Given the description of an element on the screen output the (x, y) to click on. 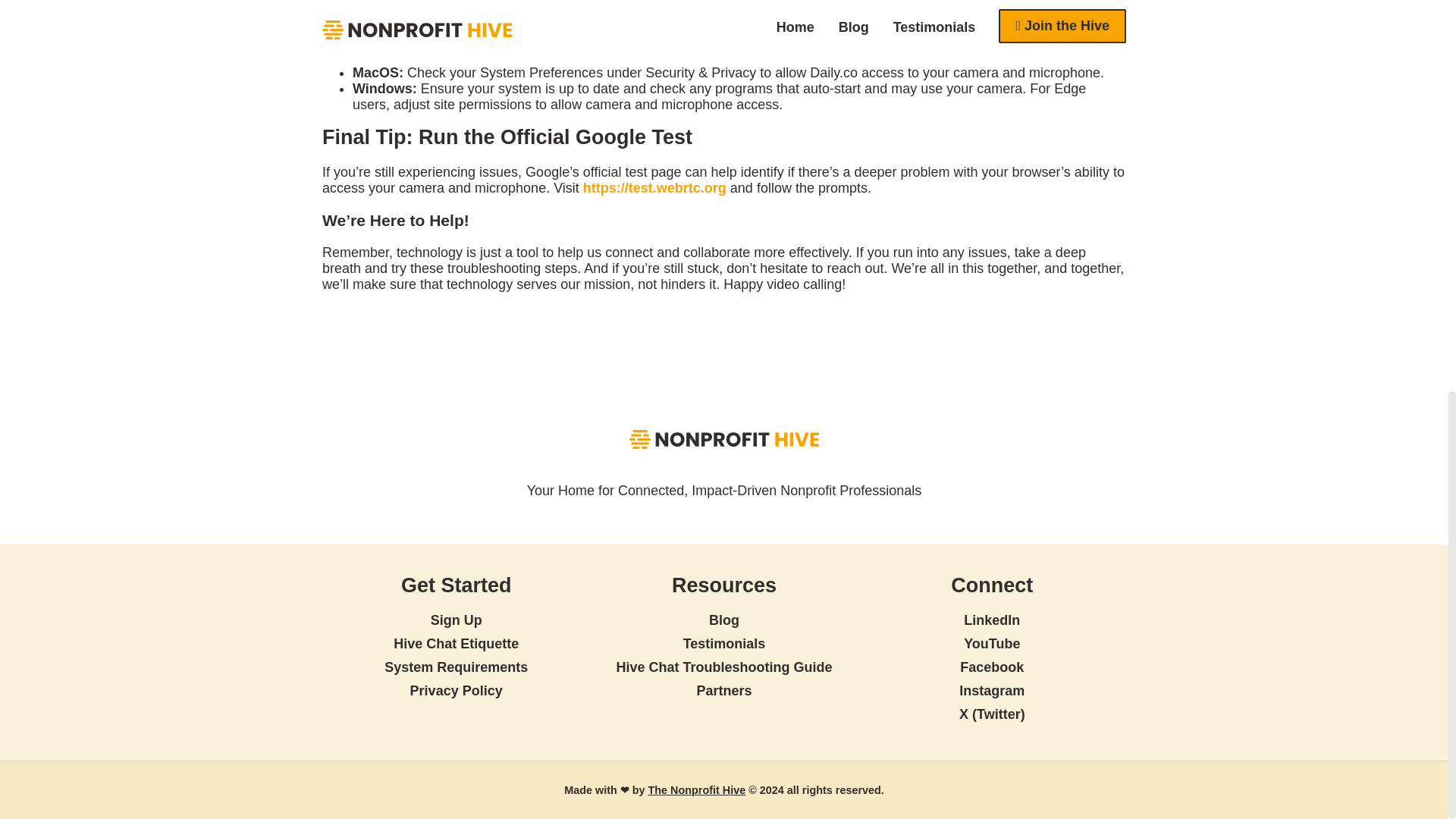
Sign Up (455, 620)
Partners (723, 690)
Privacy Policy (456, 690)
LinkedIn (991, 620)
Blog (724, 620)
Testimonials (723, 643)
YouTube (991, 643)
Hive Chat Etiquette (455, 643)
The Nonprofit Hive (696, 789)
Facebook (991, 667)
